Given the description of an element on the screen output the (x, y) to click on. 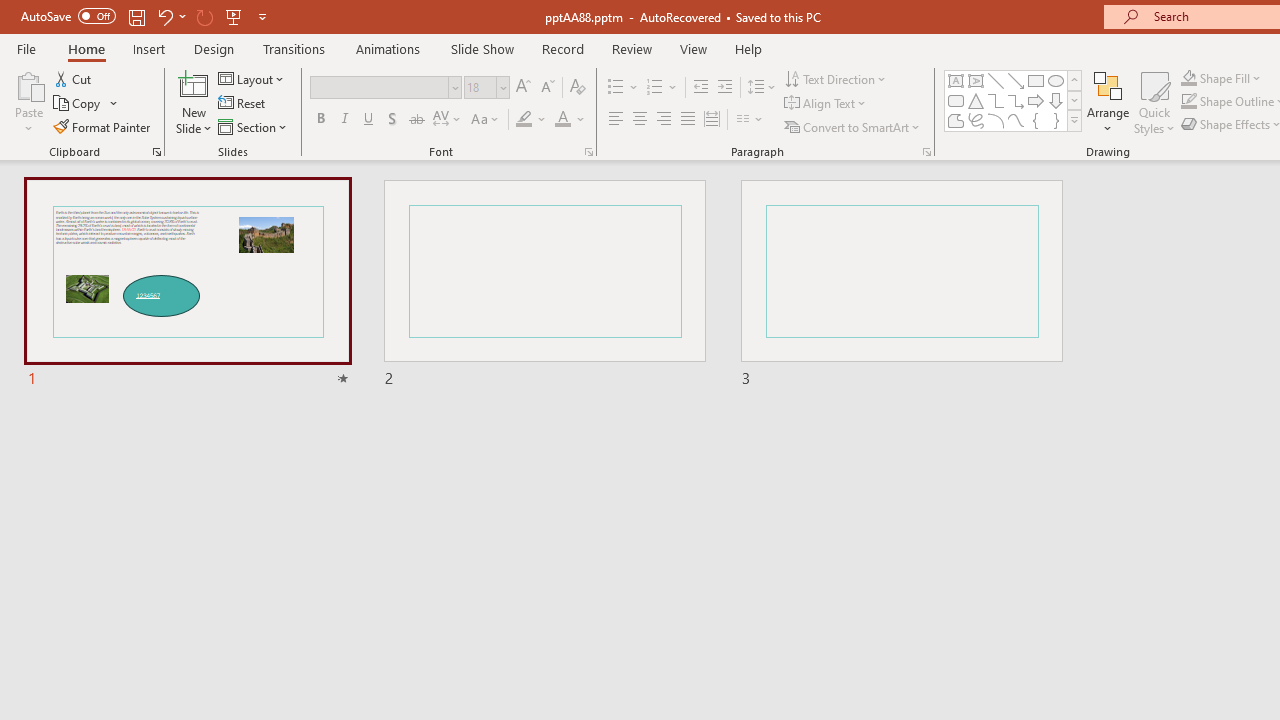
File Tab (26, 48)
Shapes (1074, 120)
Bold (320, 119)
Connector: Elbow (995, 100)
Layout (252, 78)
Font Size (480, 87)
Text Box (955, 80)
Slide (901, 284)
Office Clipboard... (156, 151)
From Beginning (234, 15)
Customize Quick Access Toolbar (262, 15)
Numbering (654, 87)
Right Brace (1055, 120)
View (693, 48)
